Given the description of an element on the screen output the (x, y) to click on. 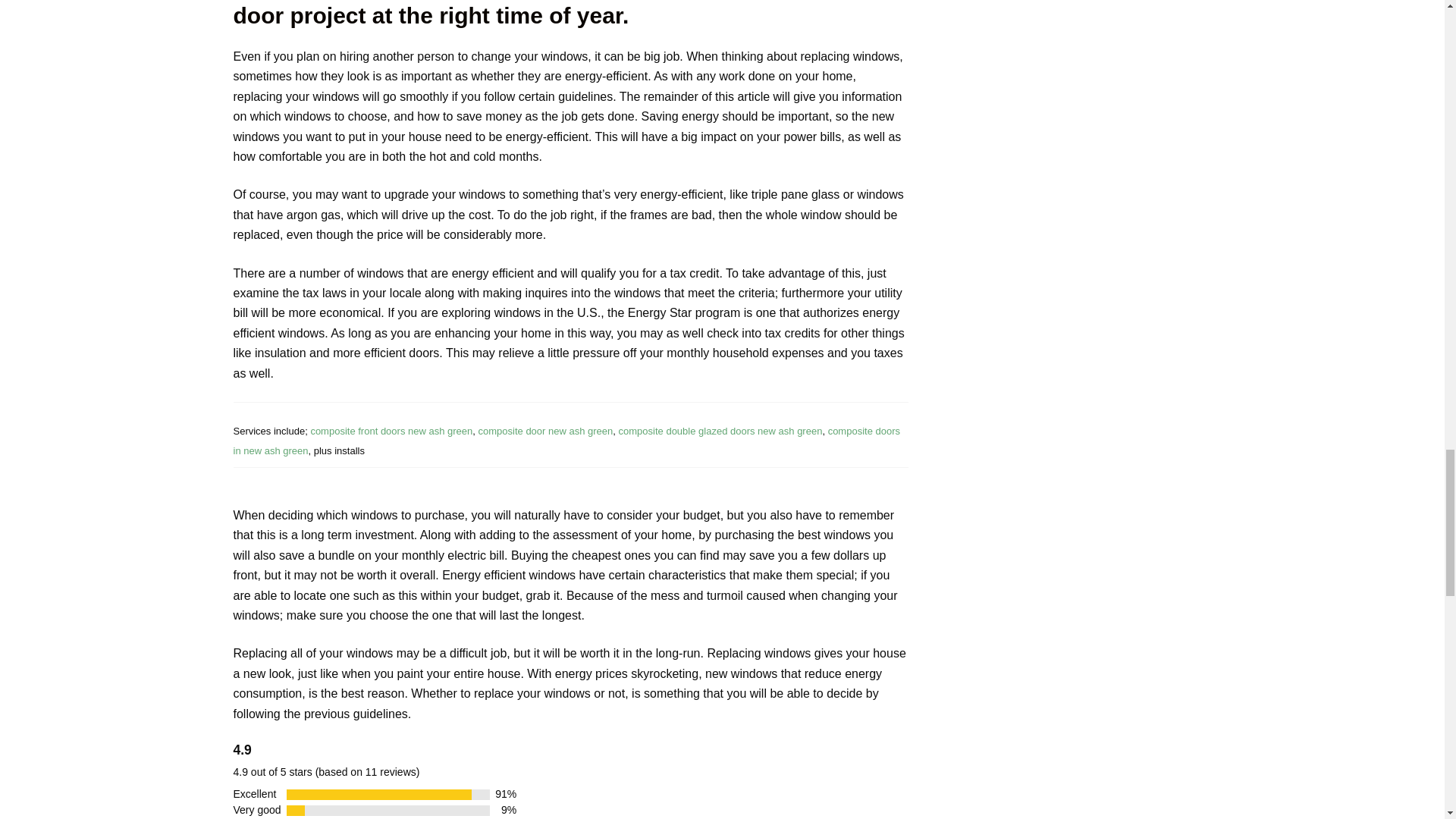
lock problems (524, 430)
stiff handle (708, 430)
fit restrictors (557, 440)
composite door new ash green (377, 430)
repairs (377, 430)
composite doors in new ash green (524, 430)
